Given the description of an element on the screen output the (x, y) to click on. 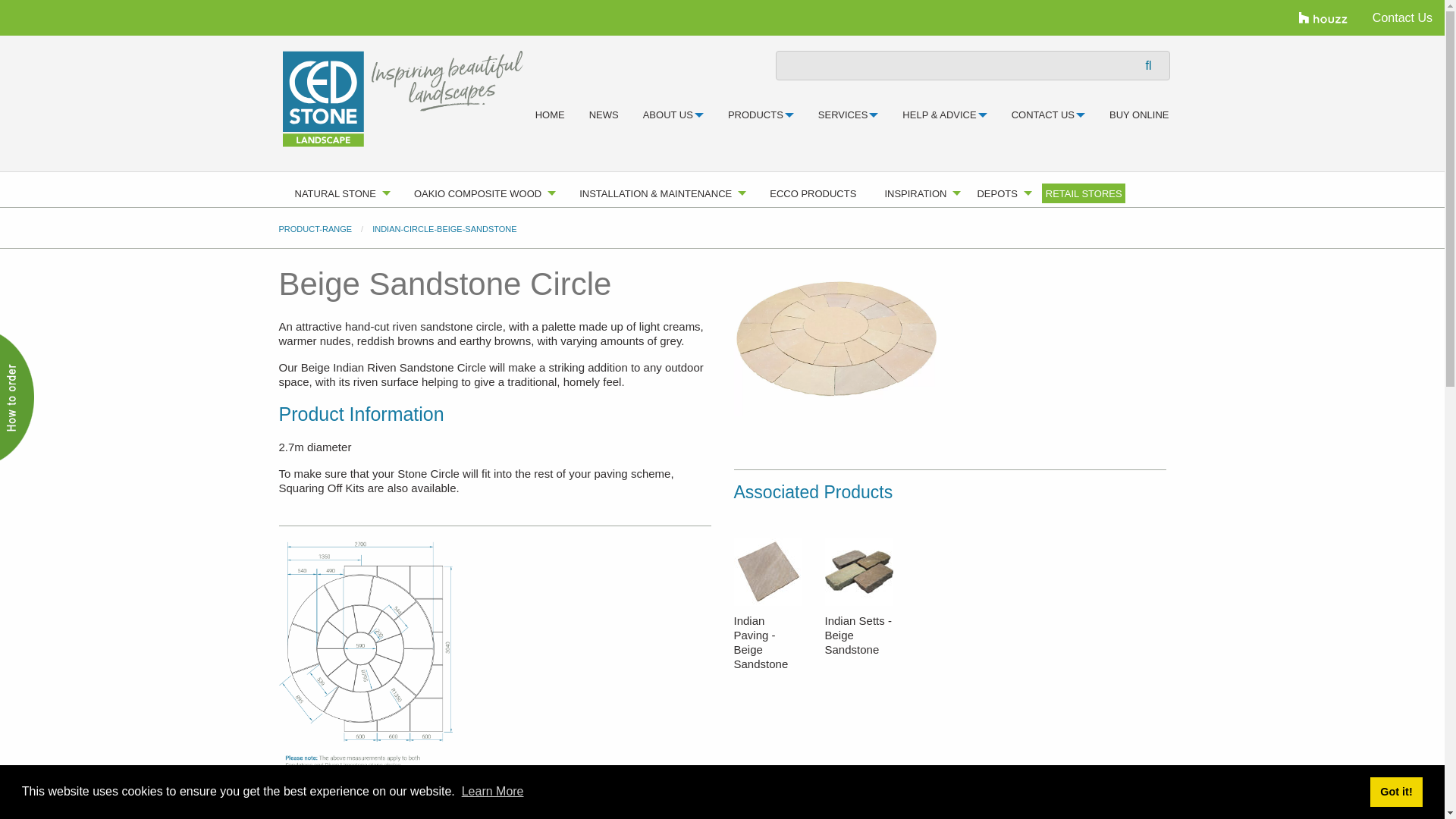
Got it! (1396, 791)
Learn More (492, 790)
